Given the description of an element on the screen output the (x, y) to click on. 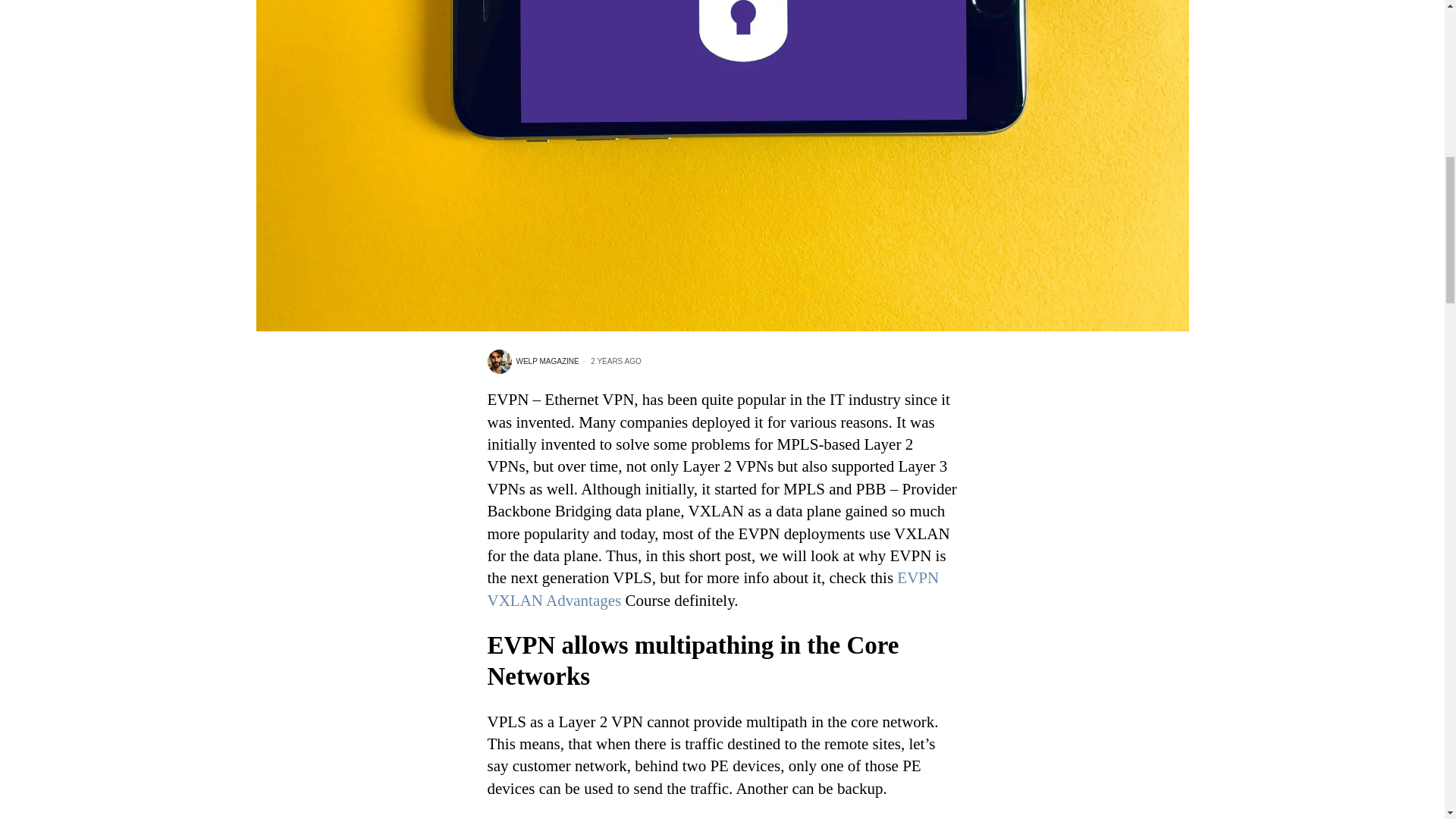
WELP MAGAZINE (532, 361)
EVPN VXLAN Advantages (712, 588)
26 Apr, 2022 11:58:10 (610, 361)
